Given the description of an element on the screen output the (x, y) to click on. 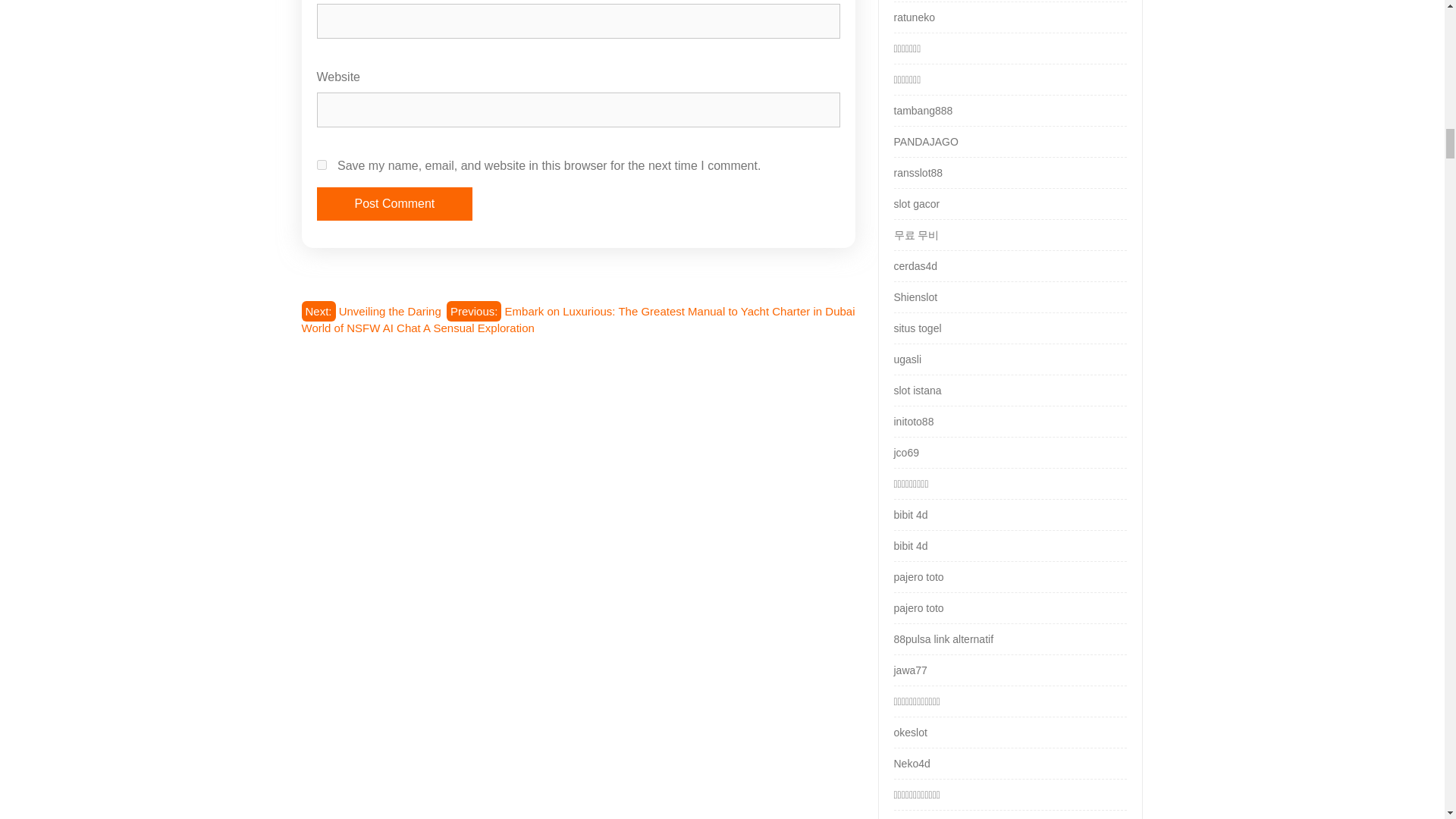
Post Comment (395, 203)
yes (321, 164)
Post Comment (395, 203)
